Given the description of an element on the screen output the (x, y) to click on. 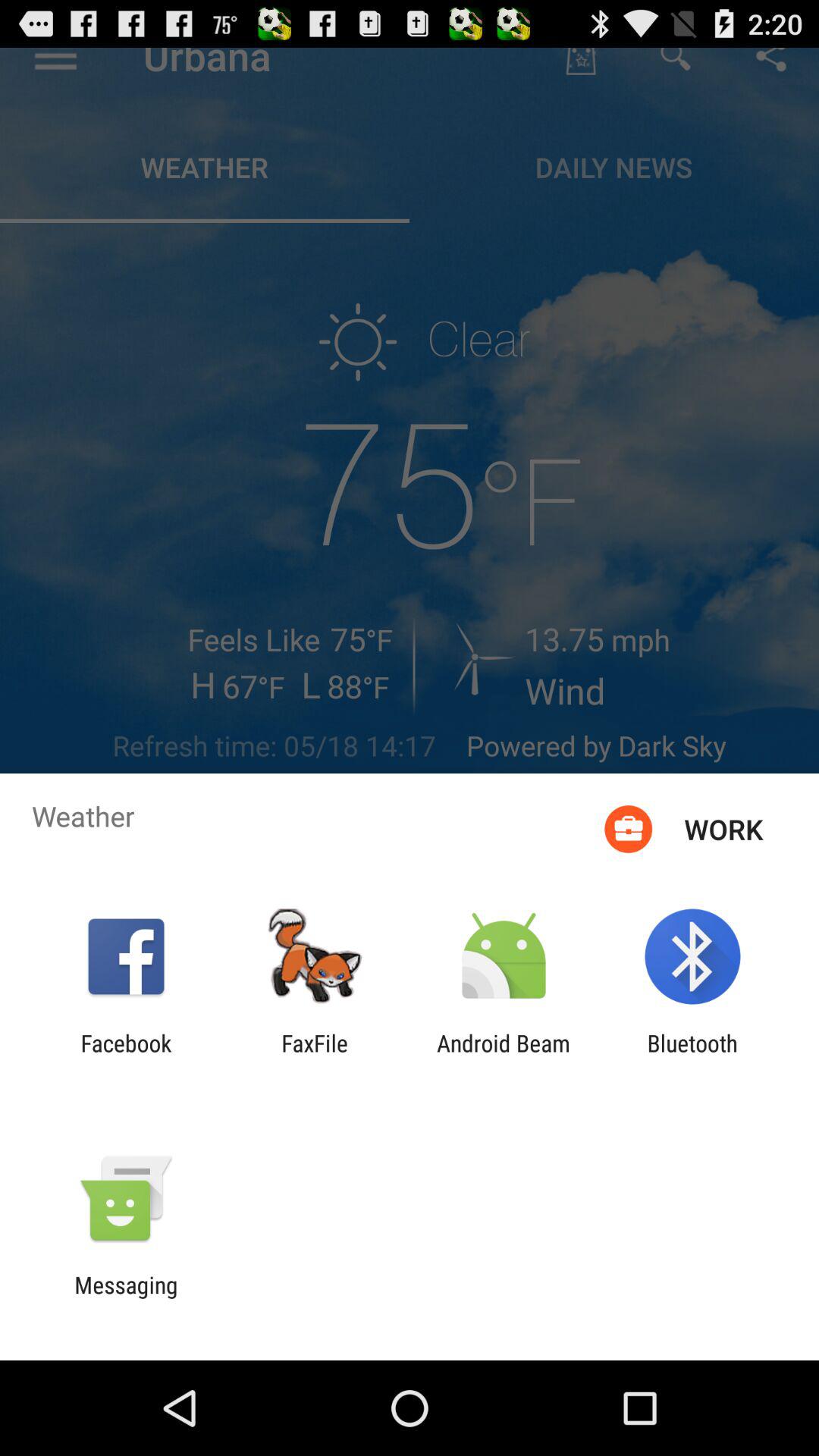
launch the item next to bluetooth item (503, 1056)
